Given the description of an element on the screen output the (x, y) to click on. 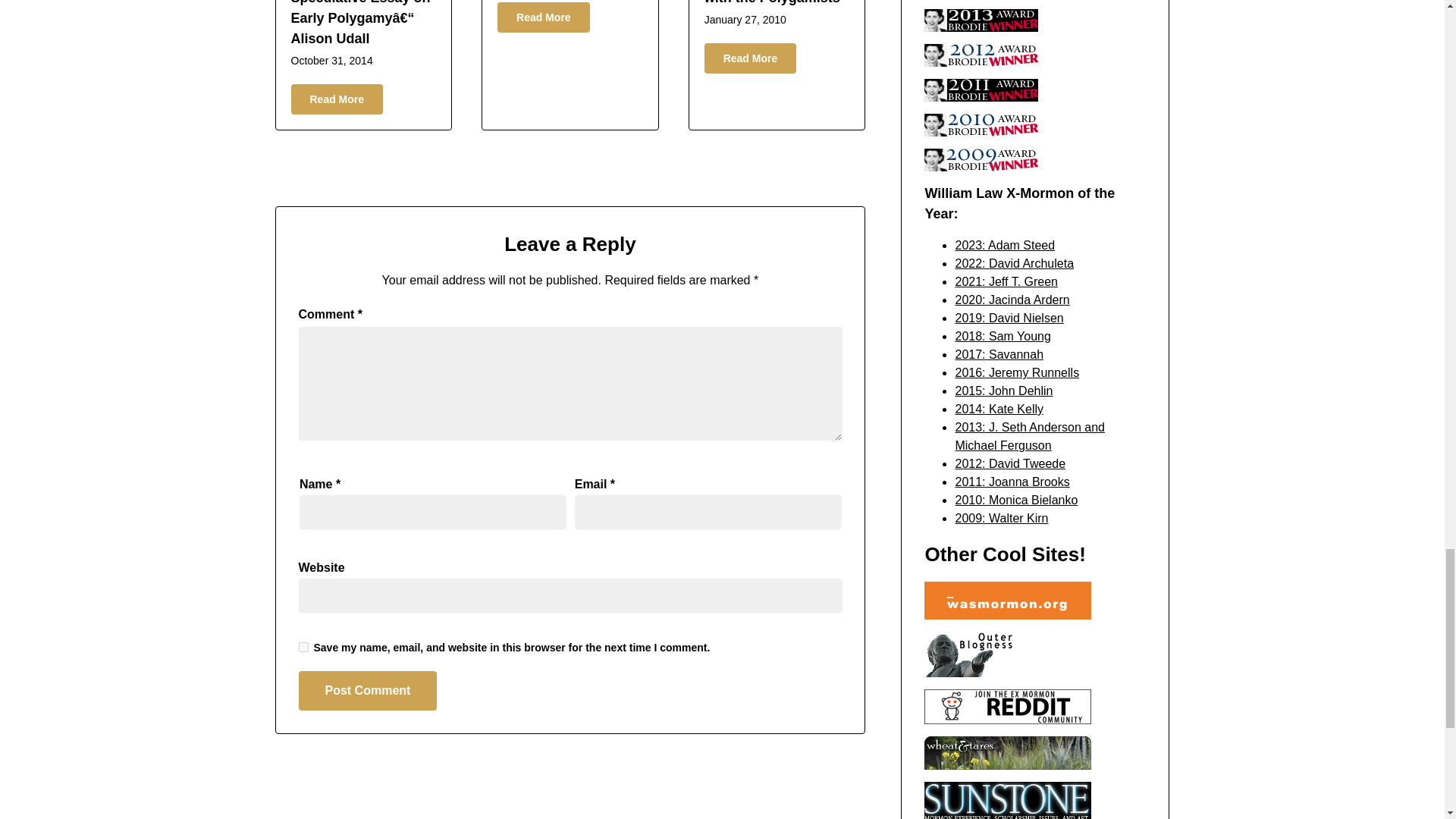
yes (303, 646)
Post Comment (368, 690)
Read More (543, 17)
October 31, 2014 (331, 60)
Read More (337, 99)
Read More (750, 58)
January 27, 2010 (745, 19)
Post Comment (368, 690)
